Given the description of an element on the screen output the (x, y) to click on. 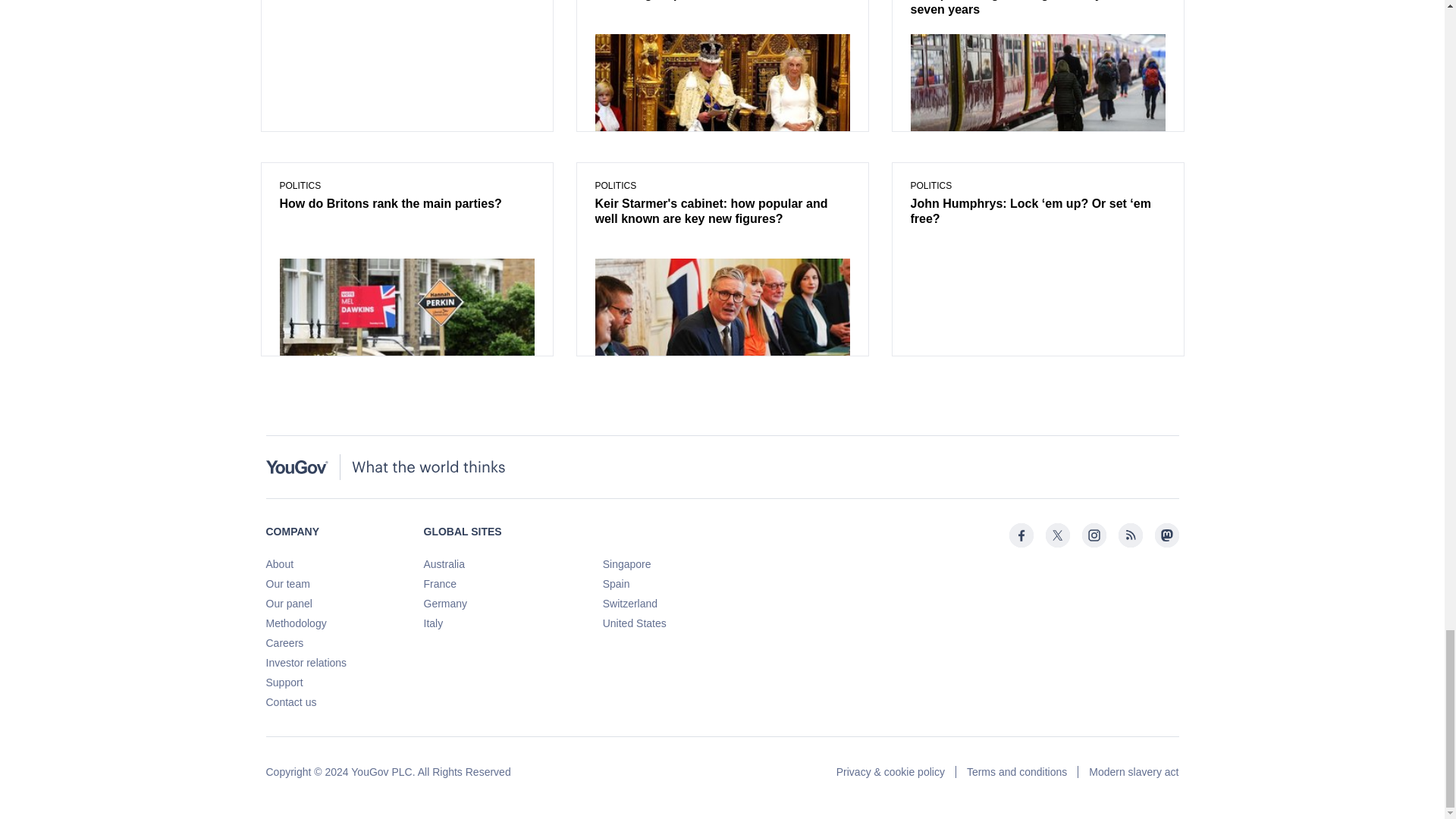
How do Britons rank the main parties? (406, 204)
John Humphrys - Child benefits: how much is too much? (406, 2)
